Given the description of an element on the screen output the (x, y) to click on. 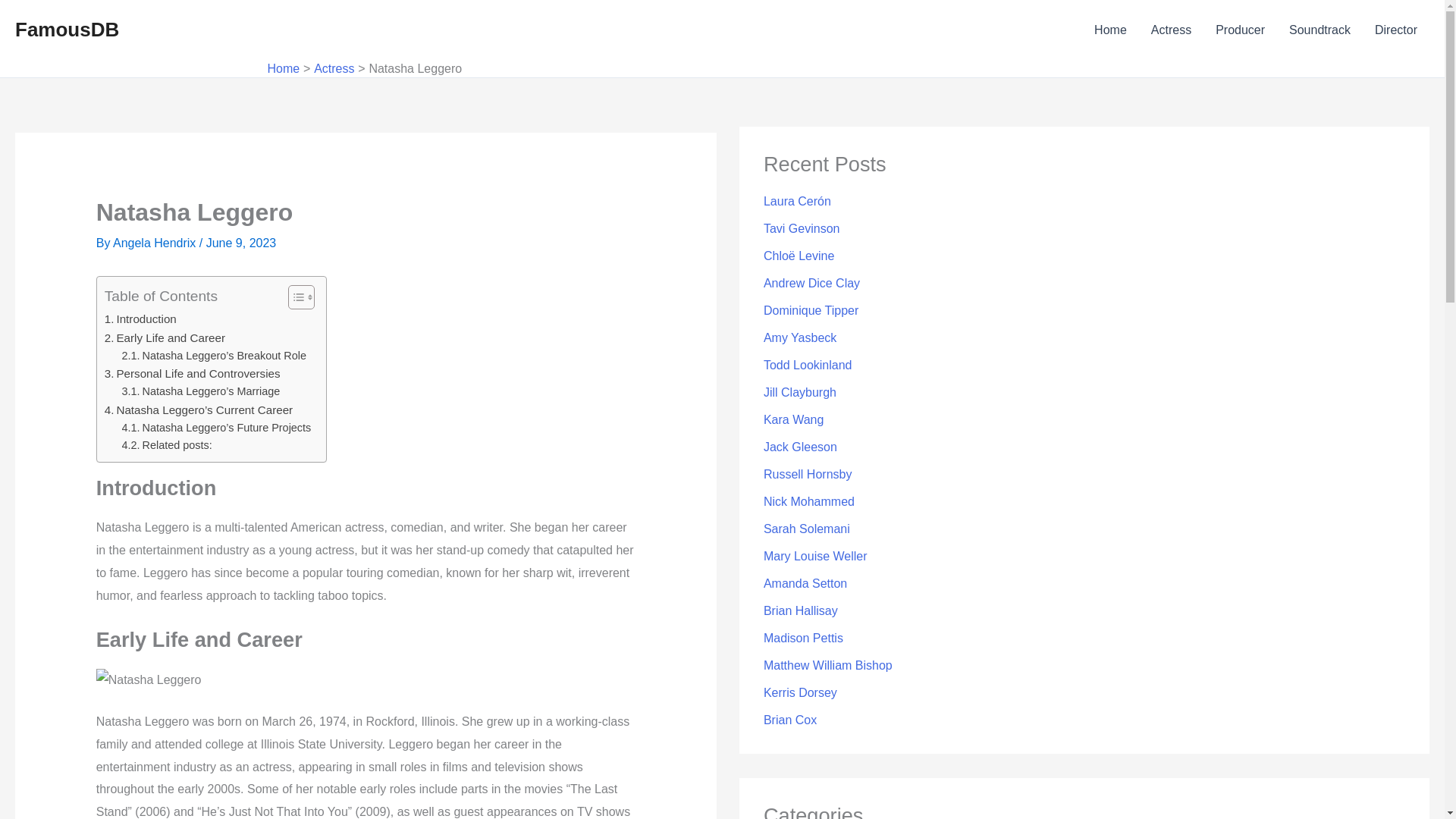
Home (1109, 30)
Russell Hornsby (806, 473)
Actress (1171, 30)
Dominique Tipper (810, 309)
Introduction (140, 319)
Early Life and Career (164, 338)
Kara Wang (793, 419)
Jill Clayburgh (798, 391)
Soundtrack (1319, 30)
Director (1395, 30)
